Given the description of an element on the screen output the (x, y) to click on. 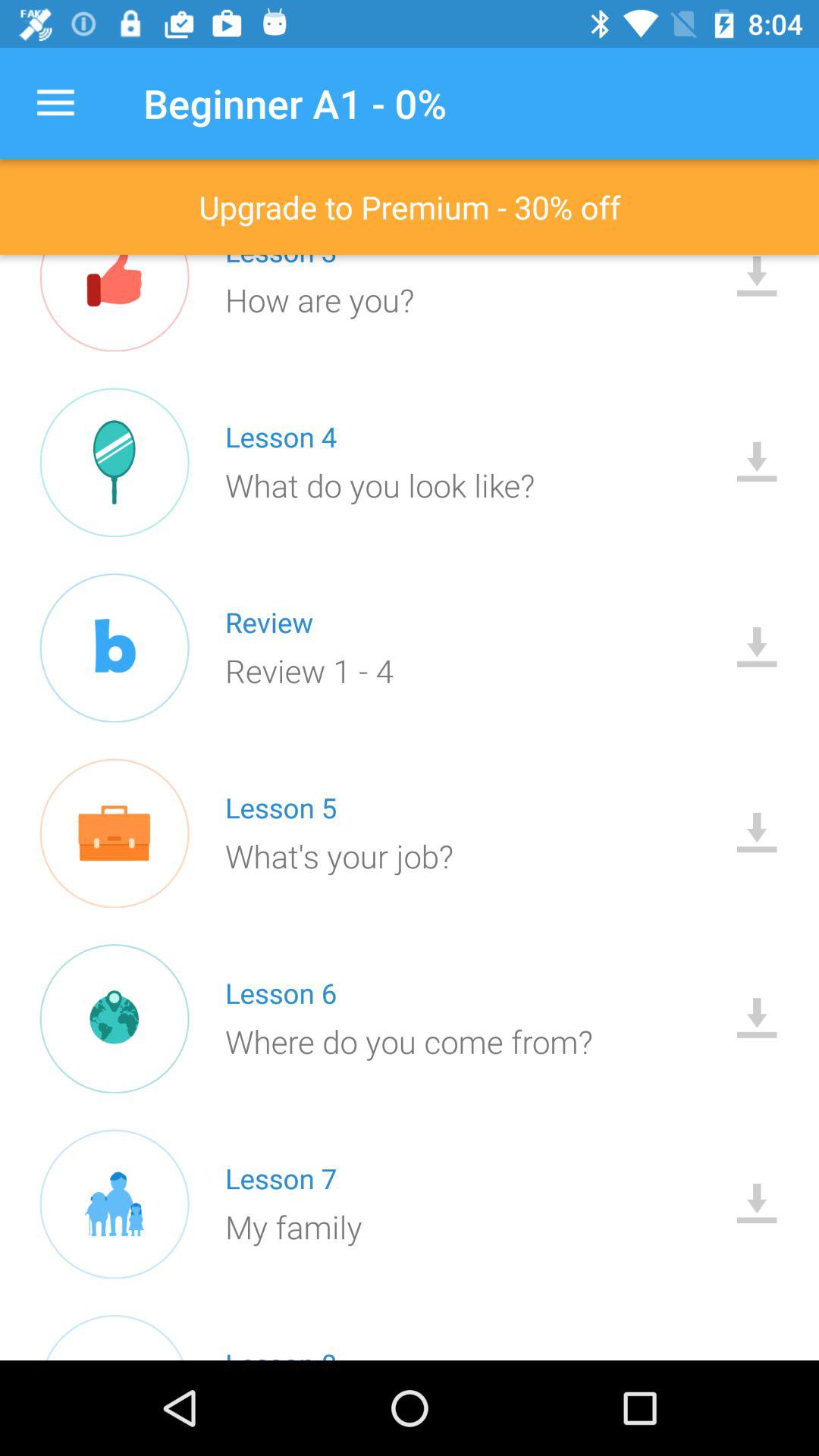
tap the app next to the beginner a1 - 0% app (55, 103)
